Given the description of an element on the screen output the (x, y) to click on. 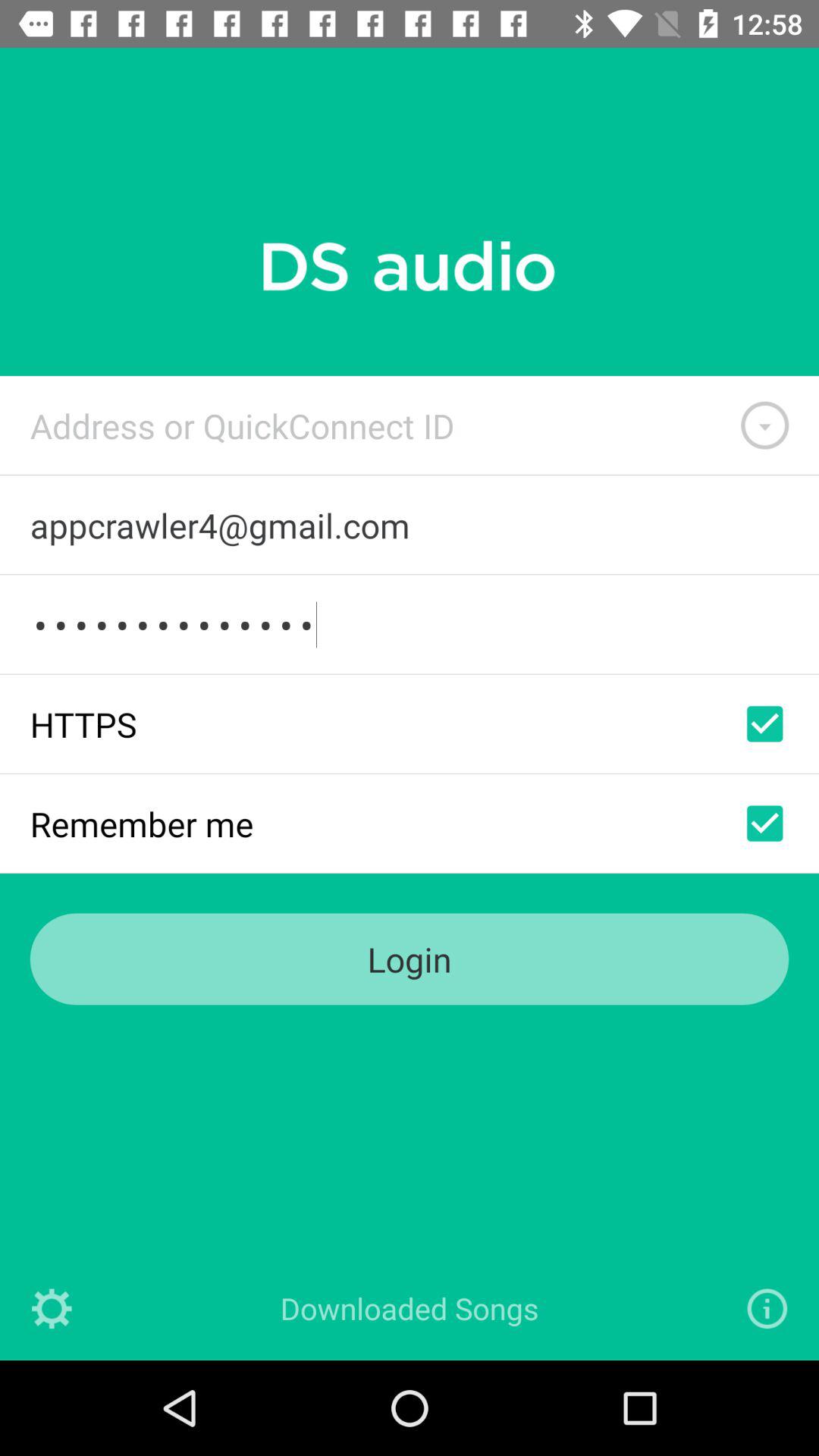
select this choice (764, 723)
